Given the description of an element on the screen output the (x, y) to click on. 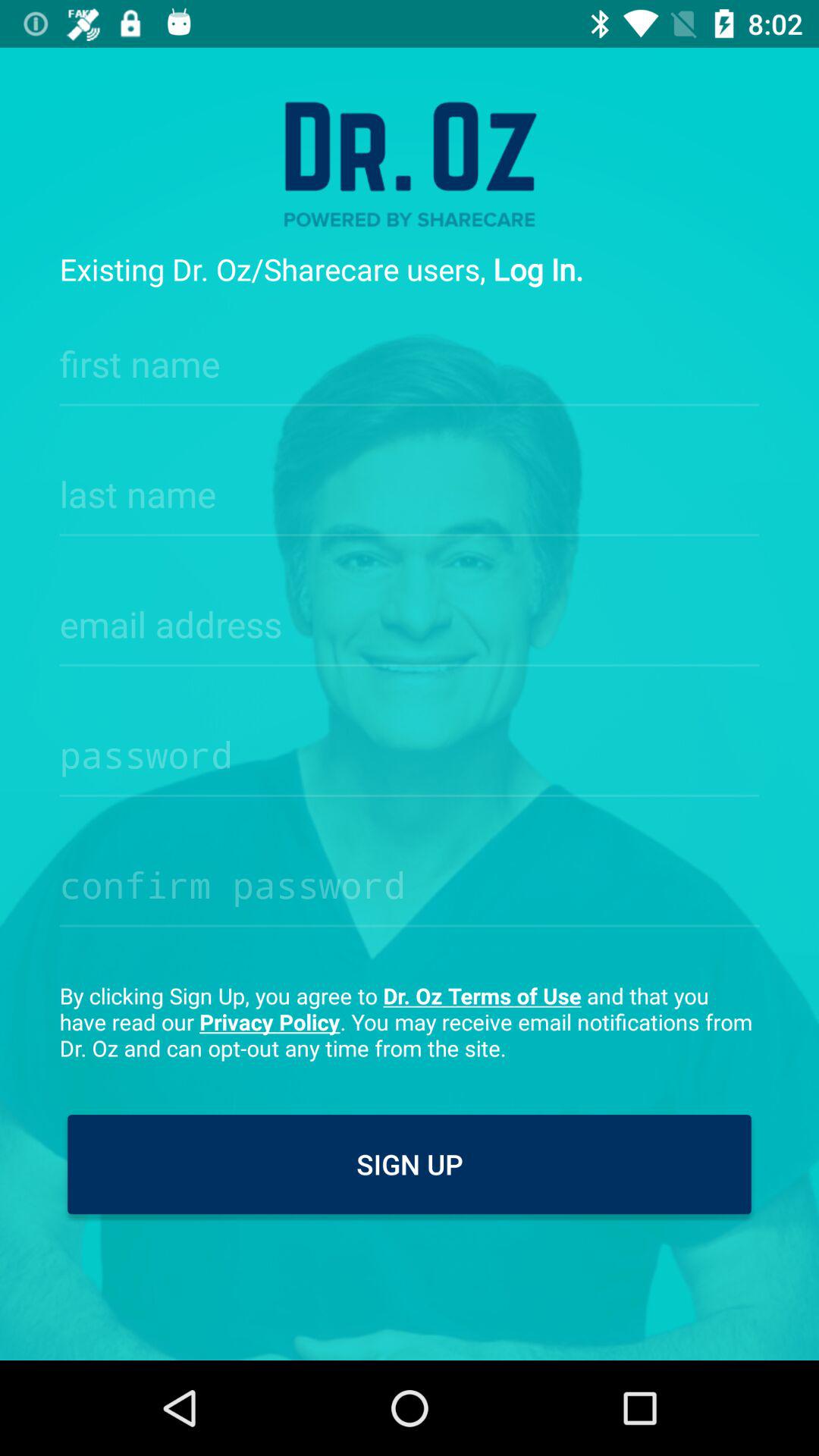
email address (409, 620)
